Given the description of an element on the screen output the (x, y) to click on. 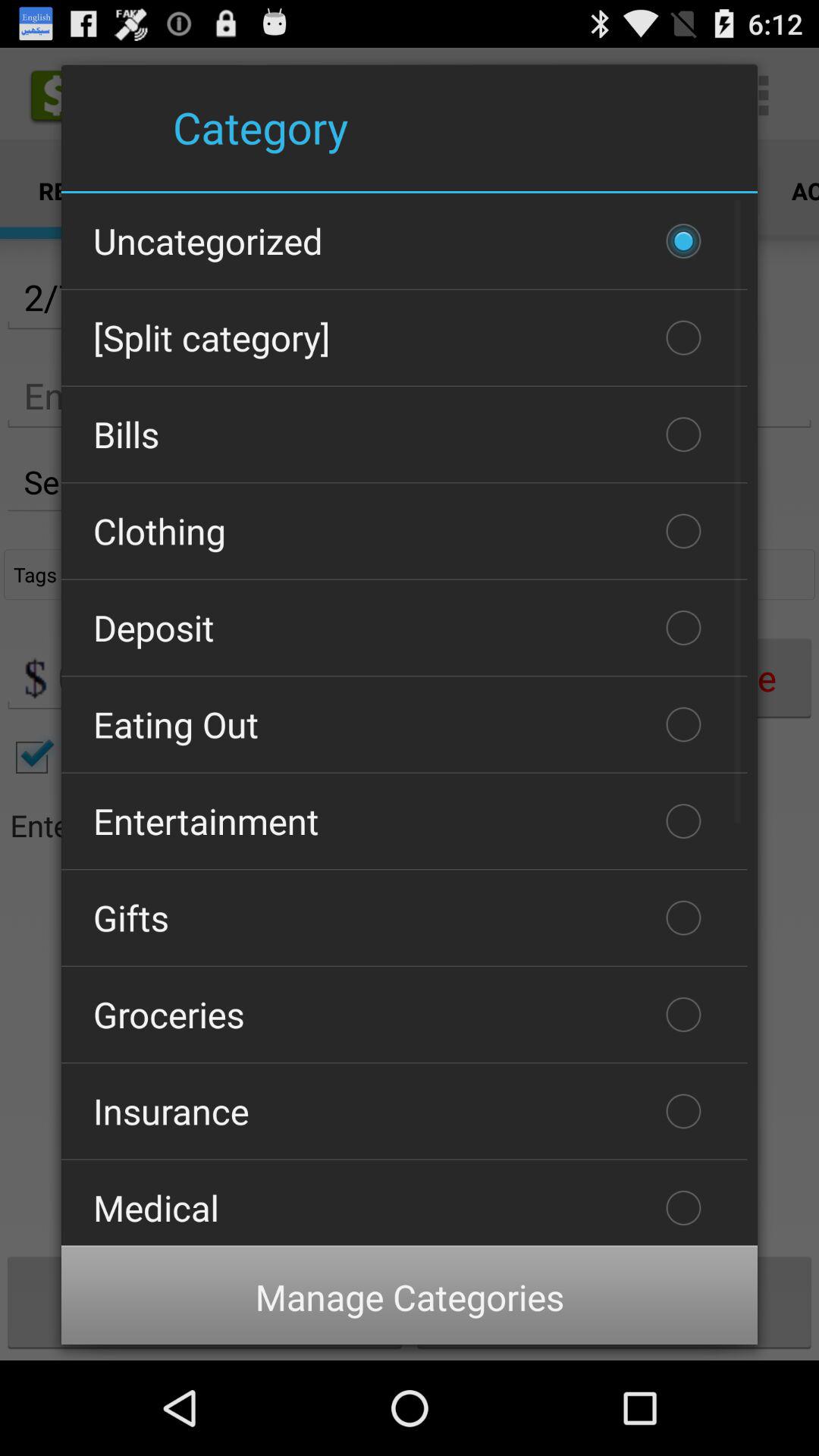
press the item above clothing icon (404, 434)
